Given the description of an element on the screen output the (x, y) to click on. 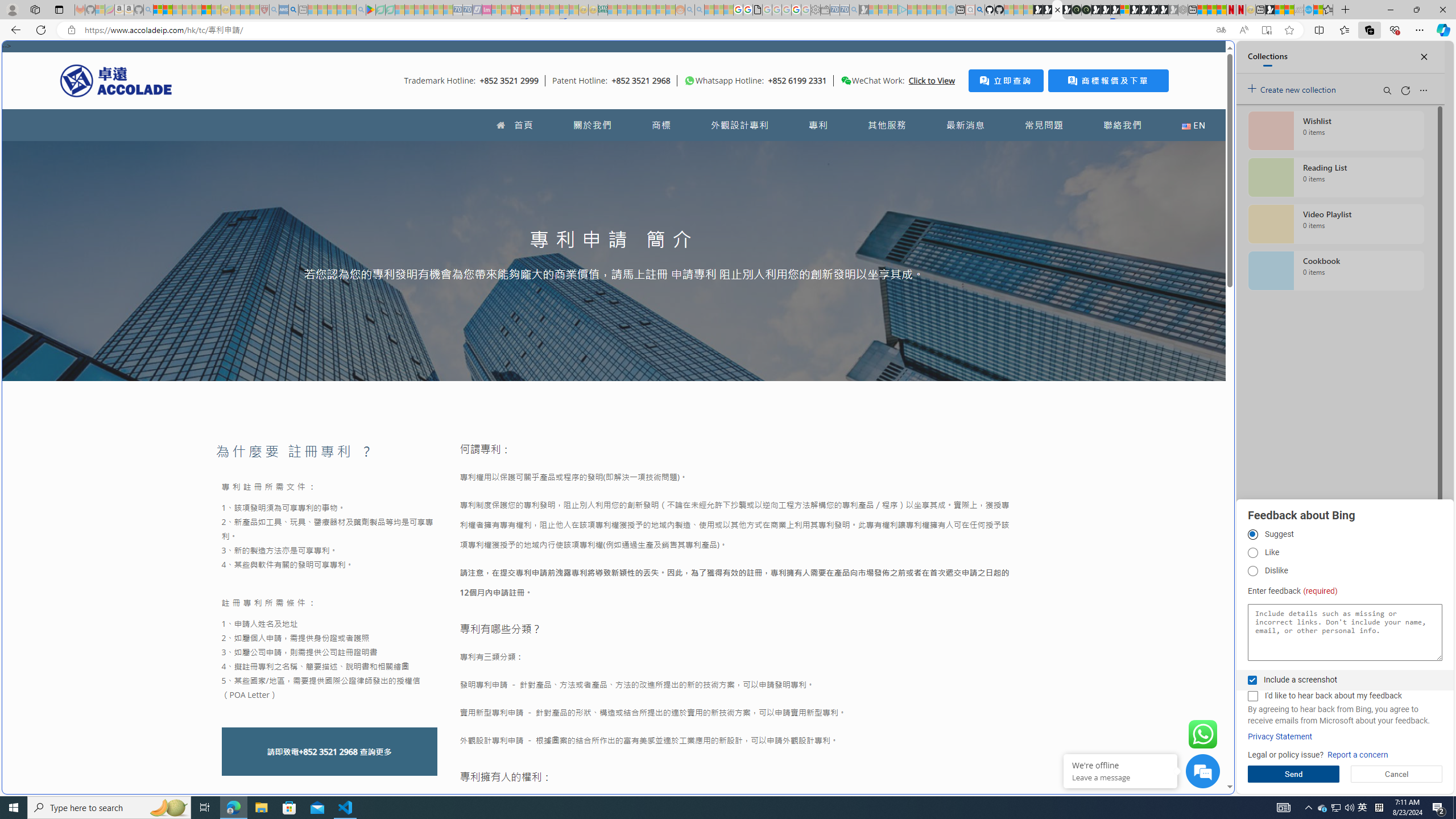
Include a screenshot (1251, 679)
Future Focus Report 2024 (1085, 9)
google_privacy_policy_zh-CN.pdf (757, 9)
